Given the description of an element on the screen output the (x, y) to click on. 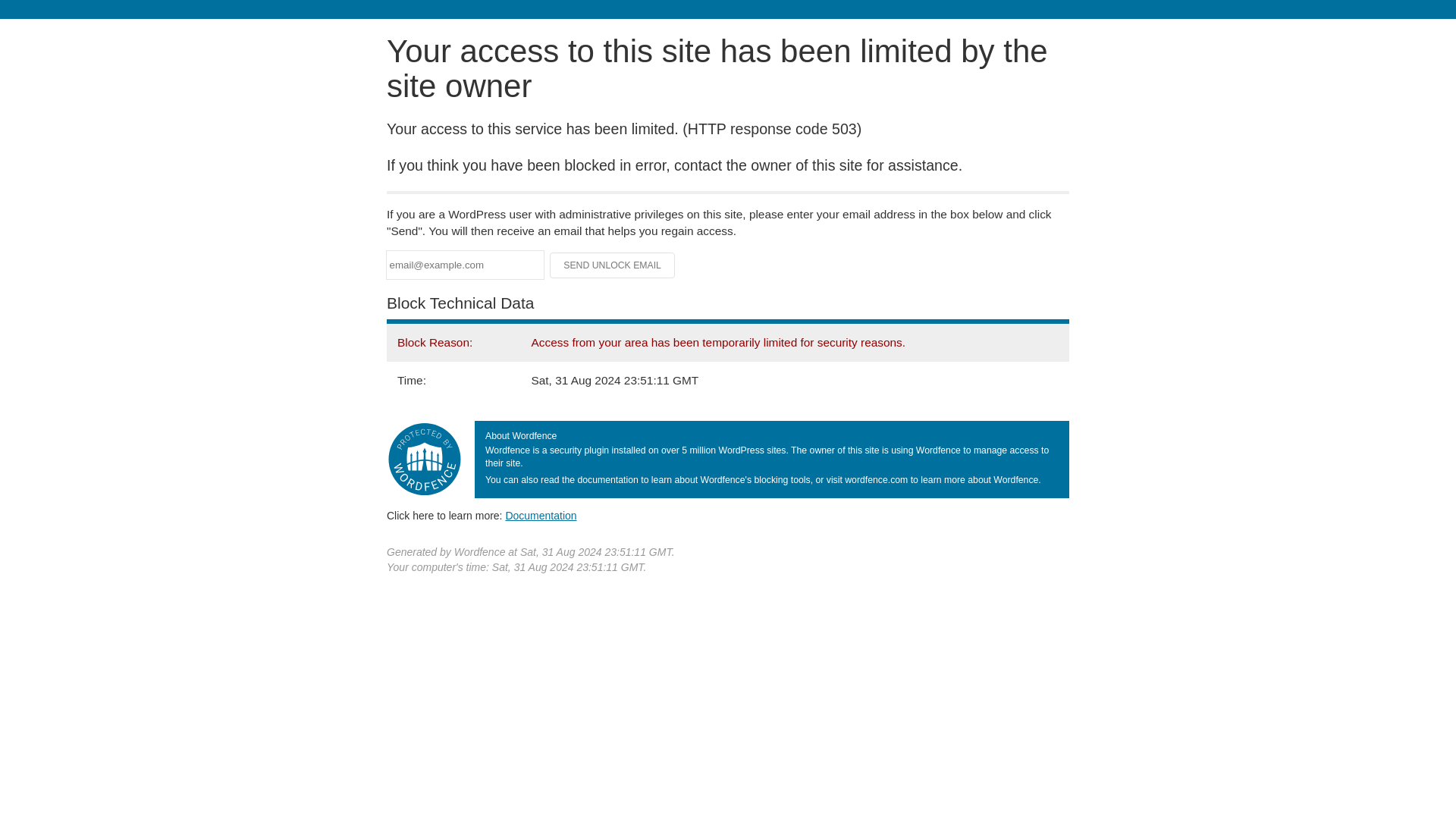
Send Unlock Email (612, 265)
Send Unlock Email (612, 265)
Documentation (540, 515)
